Given the description of an element on the screen output the (x, y) to click on. 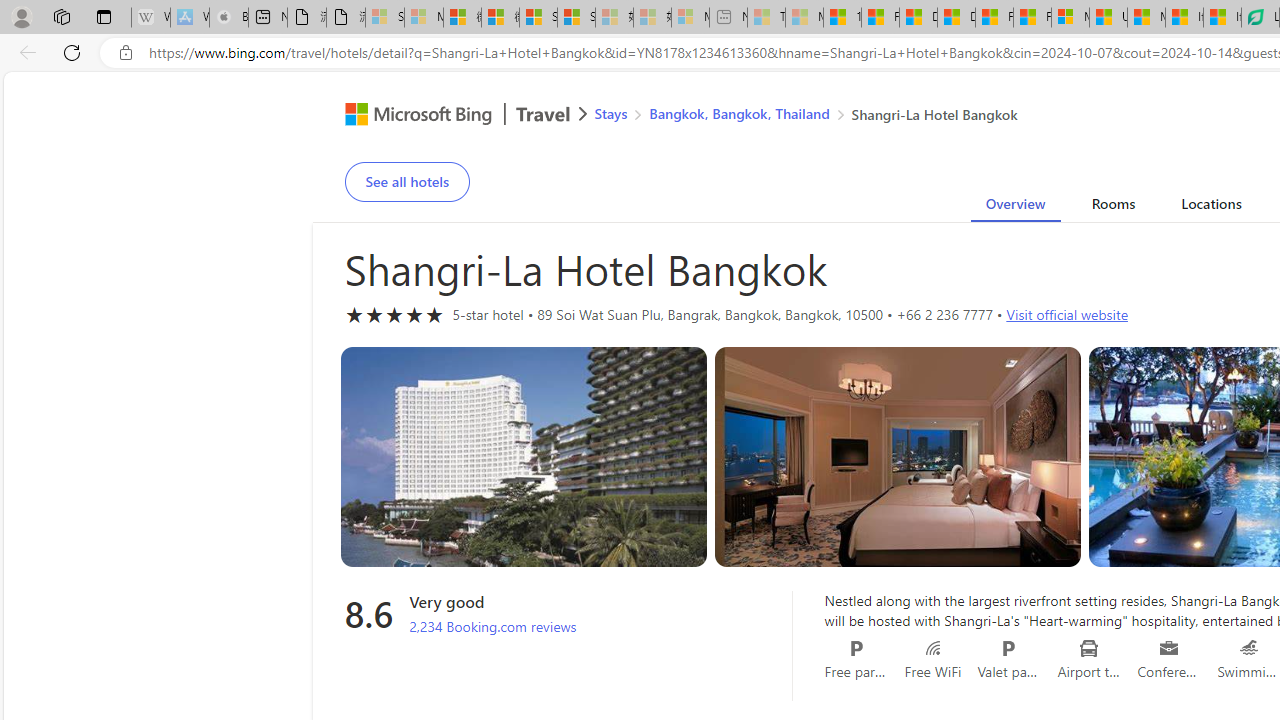
Class: msft-bing-logo msft-bing-logo-desktop (413, 114)
See all hotels (406, 182)
Microsoft Bing (410, 116)
Rooms (1112, 207)
Food and Drink - MSN (879, 17)
Sign in to your Microsoft account - Sleeping (385, 17)
US Heat Deaths Soared To Record High Last Year (1108, 17)
Microsoft account | Account Checkup - Sleeping (690, 17)
Stays (610, 112)
